Given the description of an element on the screen output the (x, y) to click on. 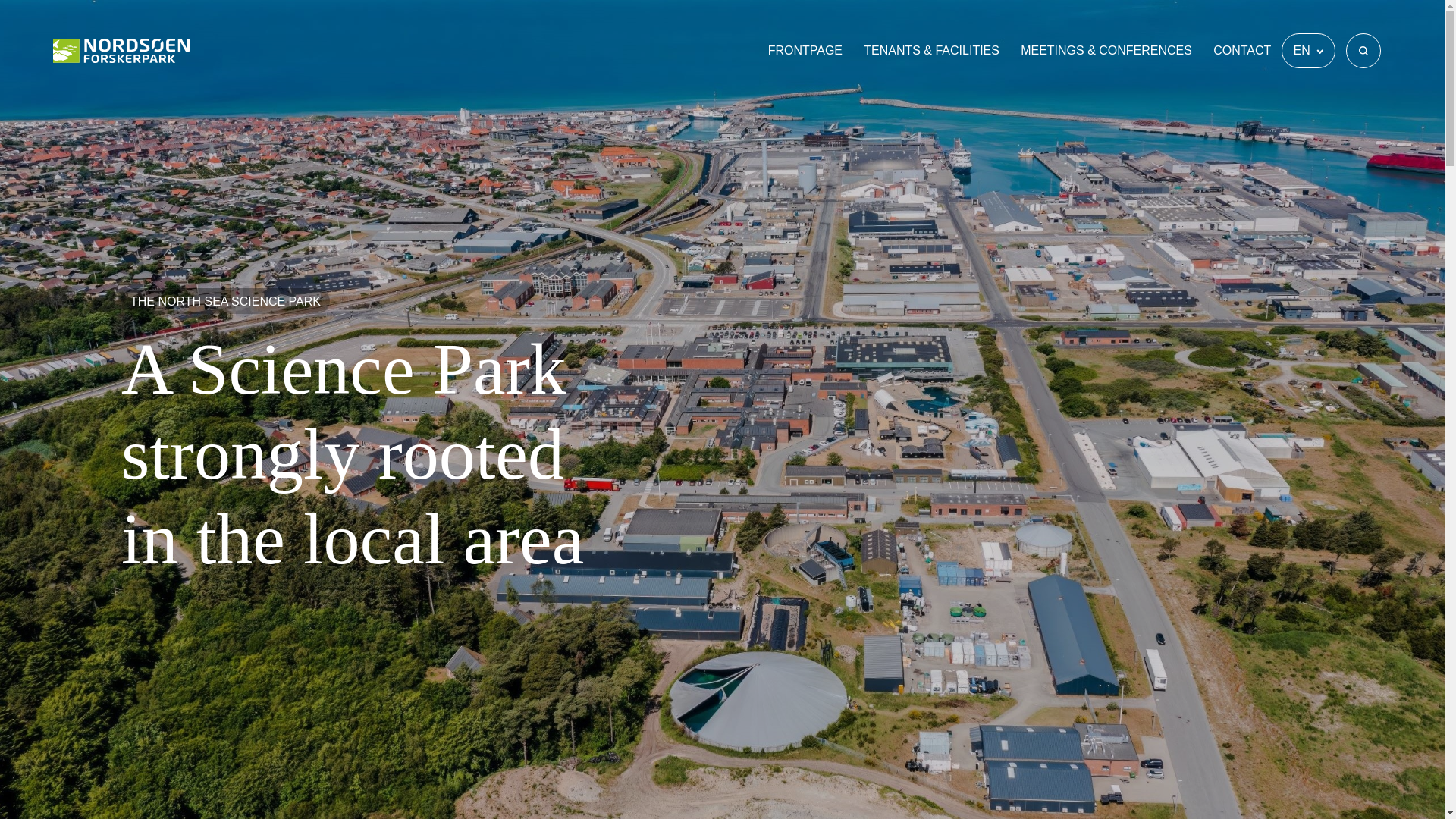
Frontpage (805, 50)
FRONTPAGE (805, 50)
Contact (1241, 50)
CONTACT (1241, 50)
